Given the description of an element on the screen output the (x, y) to click on. 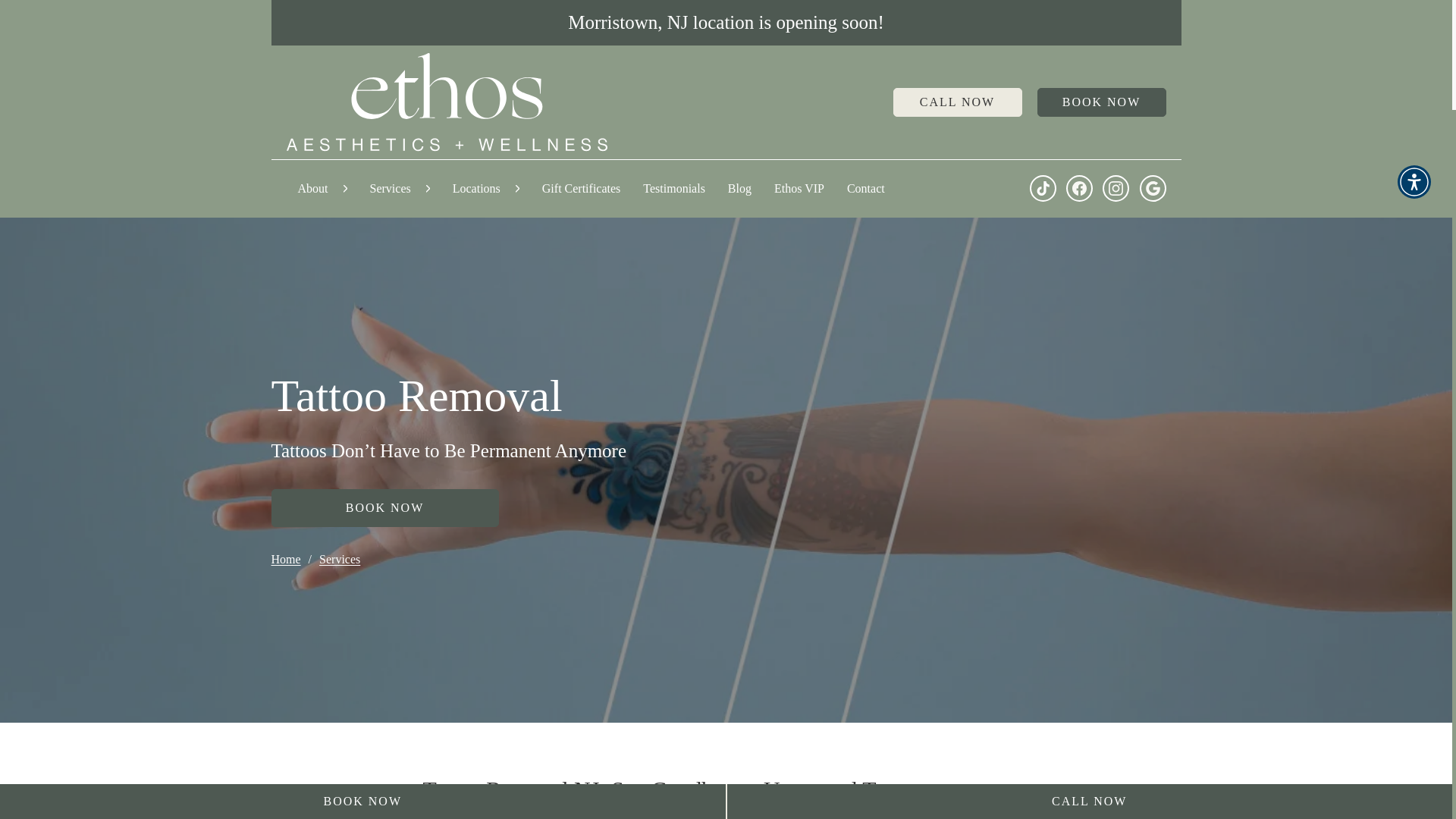
Services (390, 188)
Accessibility Menu (1414, 182)
About (311, 188)
CALL NOW (957, 102)
BOOK NOW (1101, 102)
Morristown, NJ location is opening soon! (725, 22)
